Given the description of an element on the screen output the (x, y) to click on. 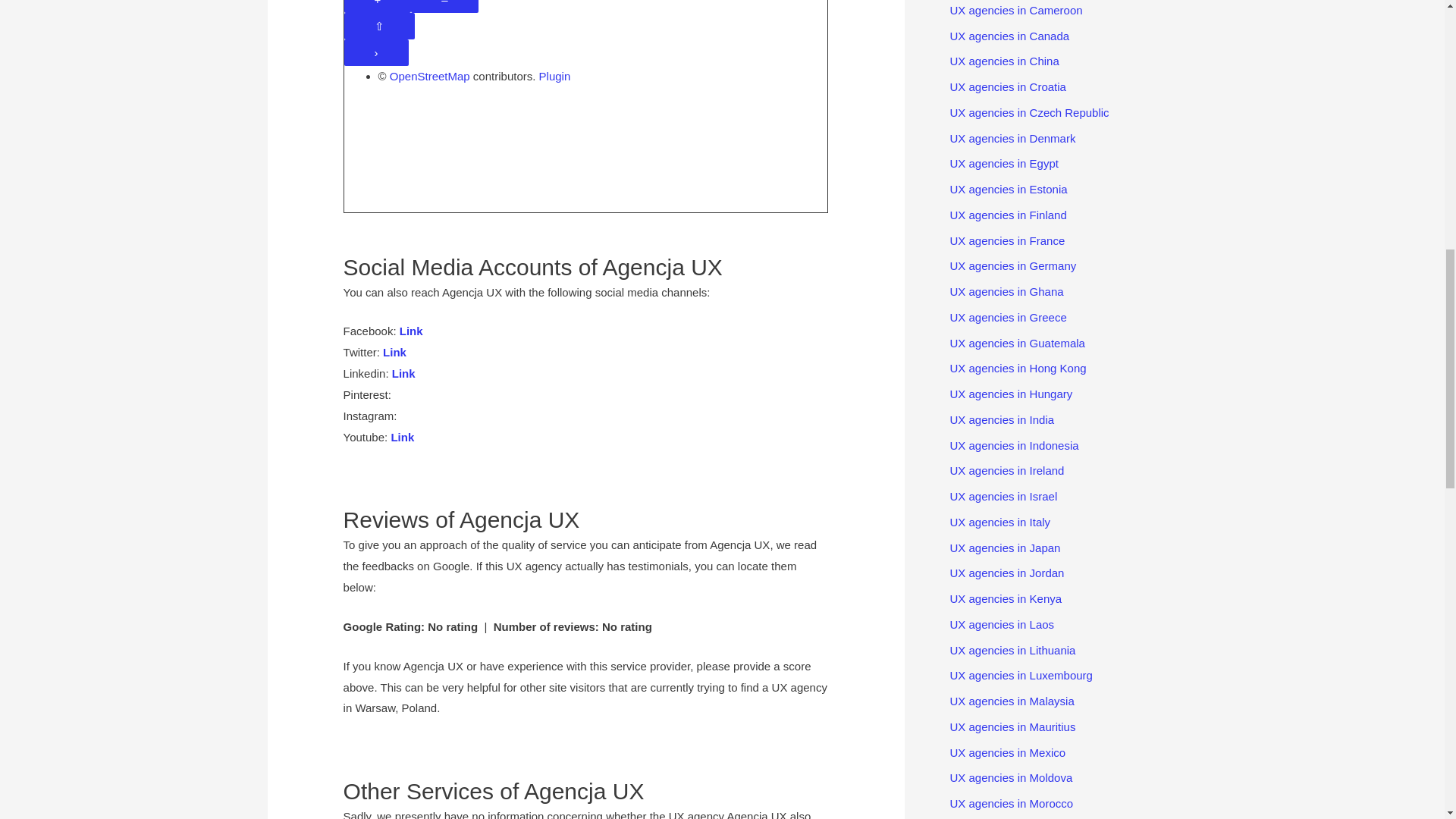
OpenStreetMap (430, 75)
Link (410, 330)
Link (394, 351)
Attributions (376, 52)
Plugin (552, 75)
Link (401, 436)
Zoom in (377, 6)
Link (402, 373)
Zoom out (443, 6)
Reset rotation (378, 26)
